Given the description of an element on the screen output the (x, y) to click on. 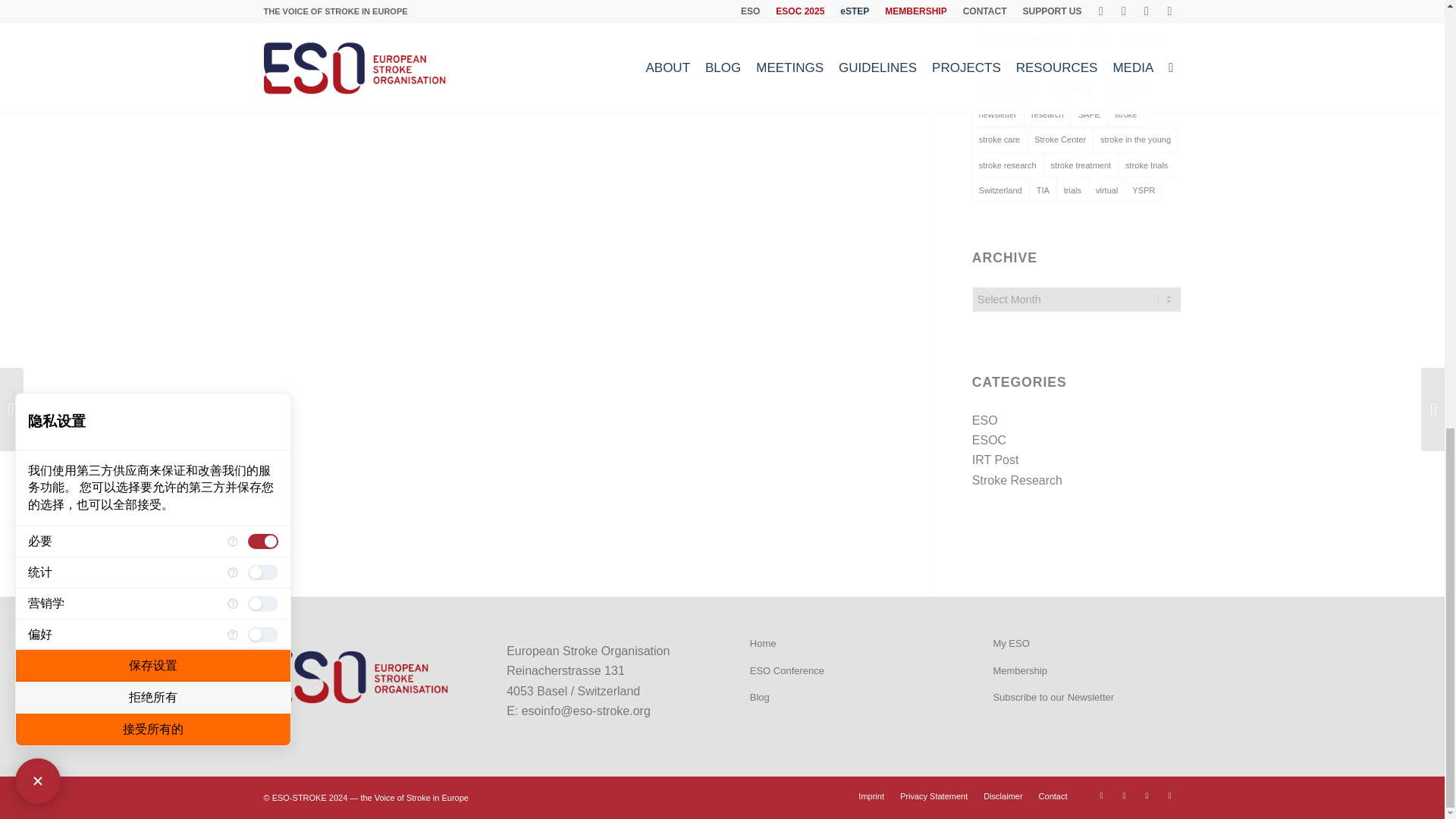
X (1124, 794)
Facebook (1101, 794)
Youtube (1146, 794)
LinkedIn (1169, 794)
